Given the description of an element on the screen output the (x, y) to click on. 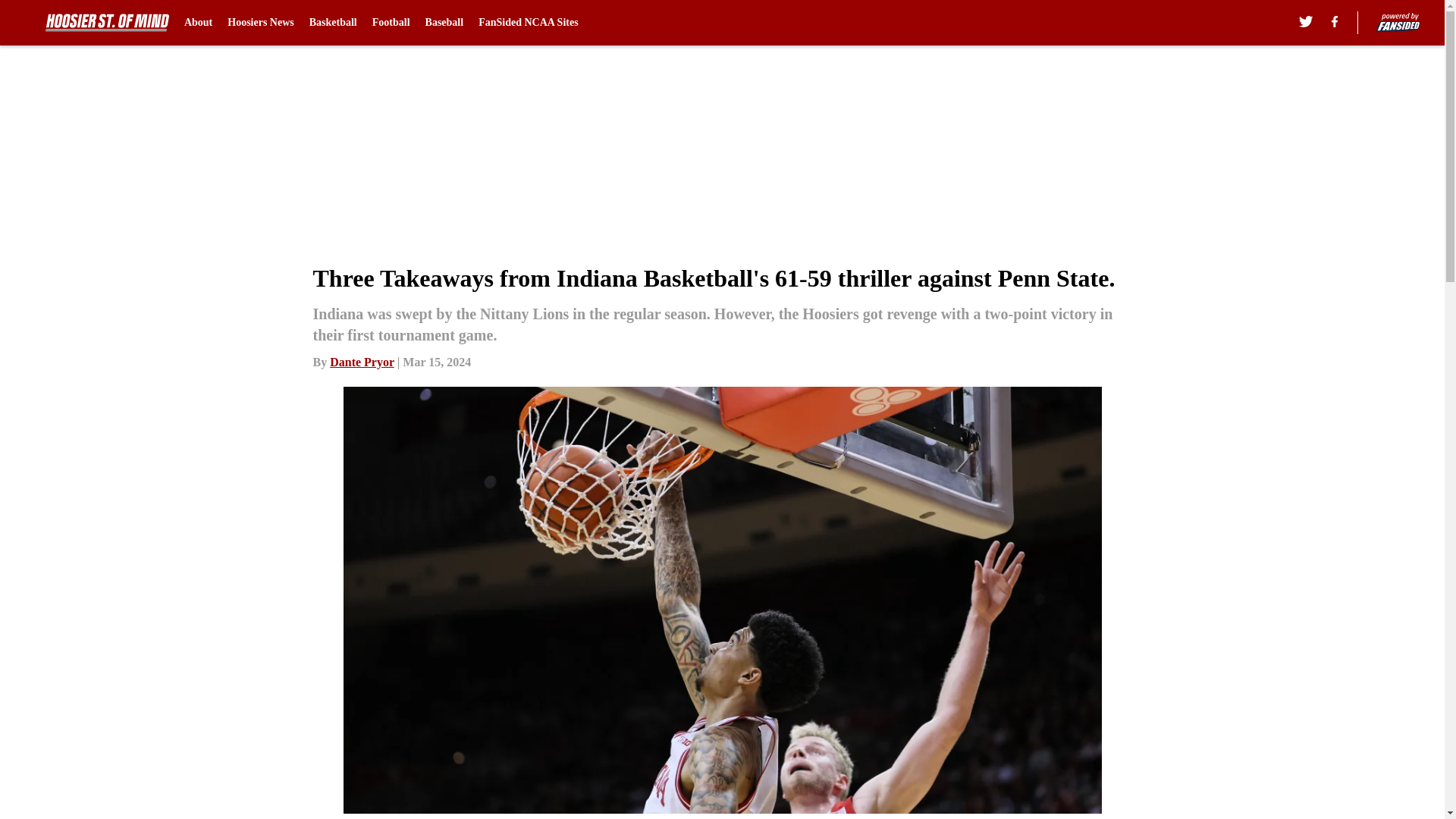
Basketball (332, 22)
Football (391, 22)
Baseball (444, 22)
About (198, 22)
FanSided NCAA Sites (528, 22)
Hoosiers News (260, 22)
Dante Pryor (362, 361)
